Given the description of an element on the screen output the (x, y) to click on. 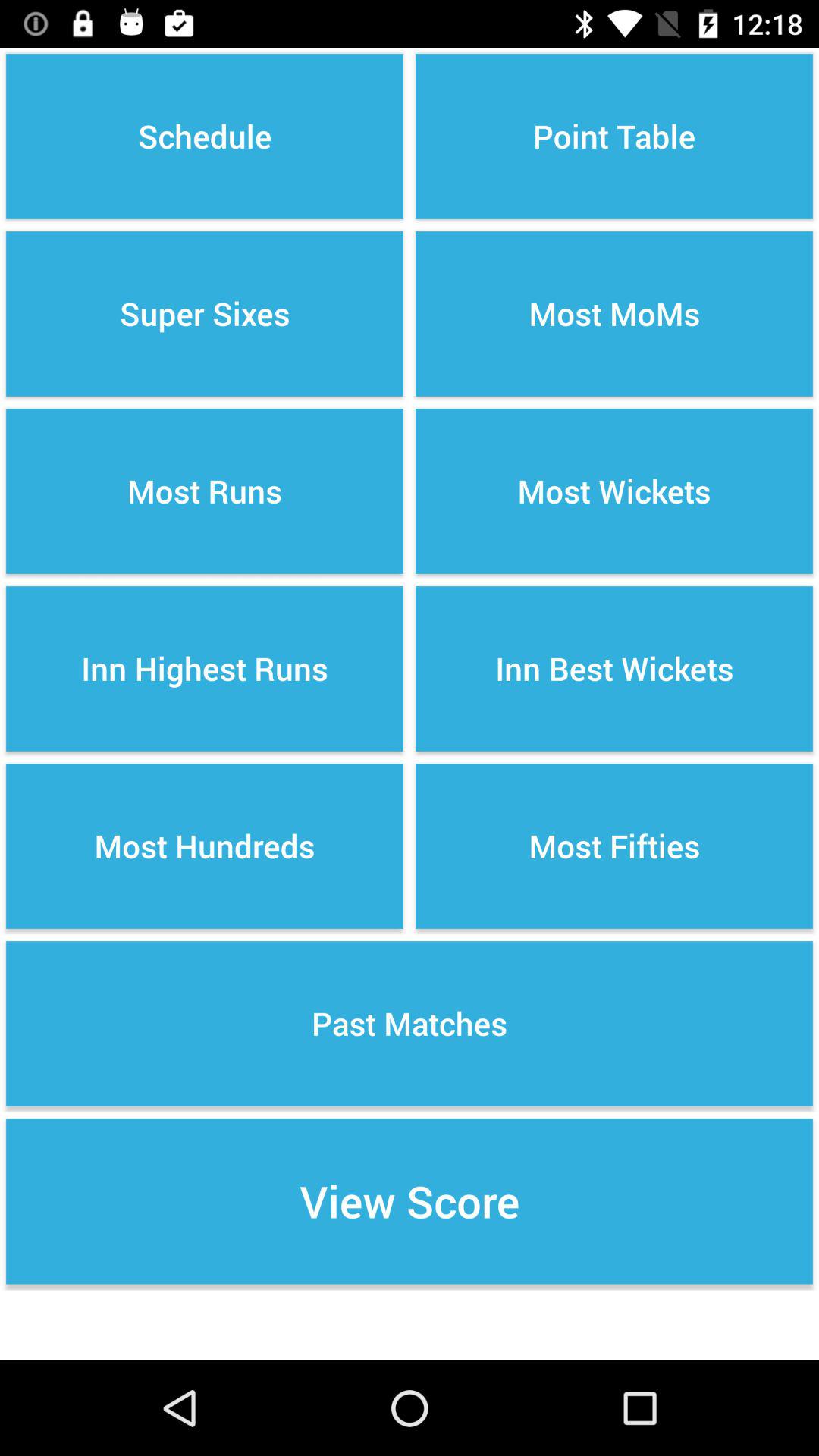
choose icon above the past matches (613, 845)
